Given the description of an element on the screen output the (x, y) to click on. 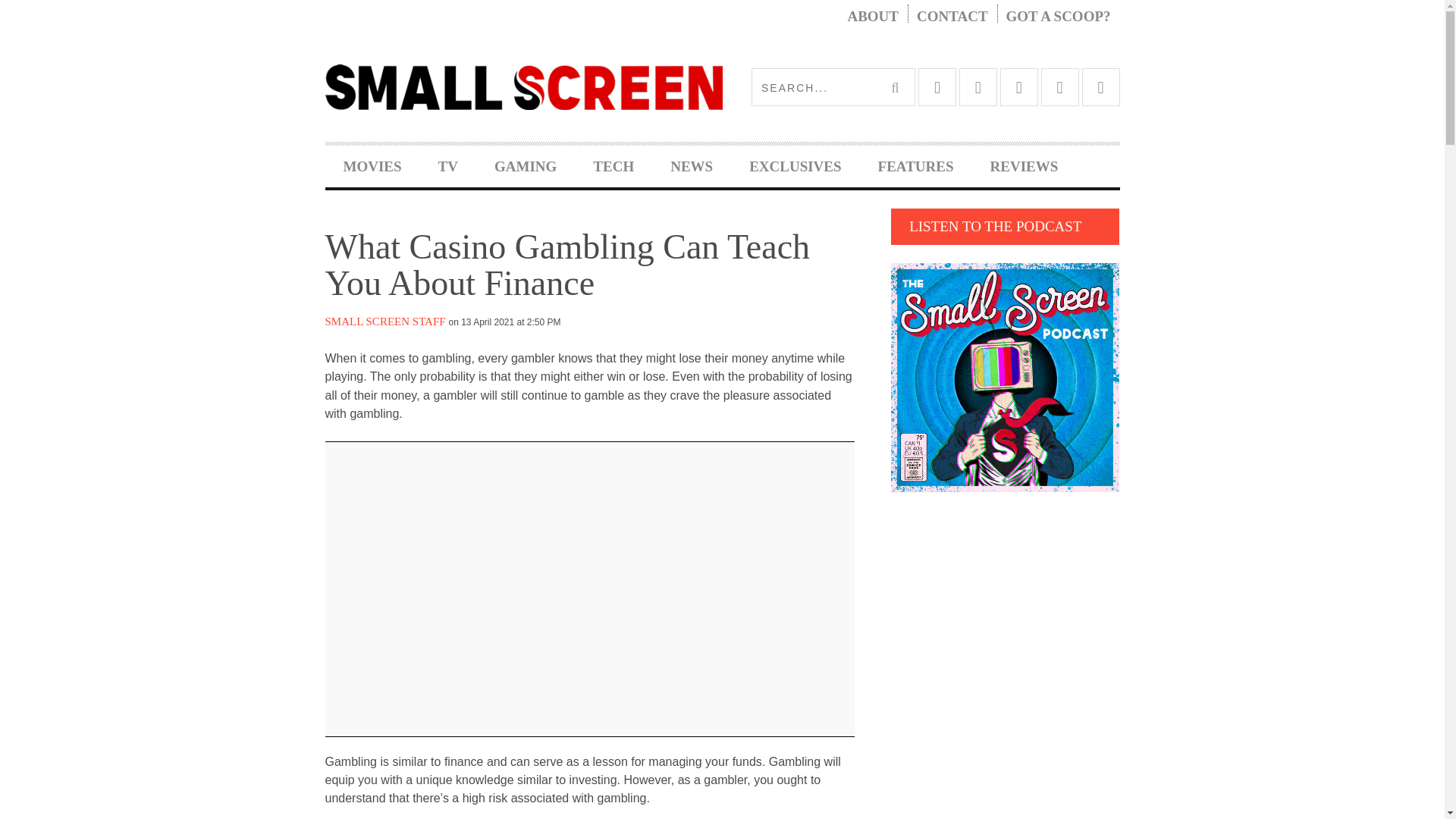
CONTACT (952, 16)
Listen To The Podcast (1005, 376)
Posts by Small Screen Staff (384, 321)
GOT A SCOOP? (1058, 16)
Small Screen (523, 86)
ABOUT (872, 16)
